Given the description of an element on the screen output the (x, y) to click on. 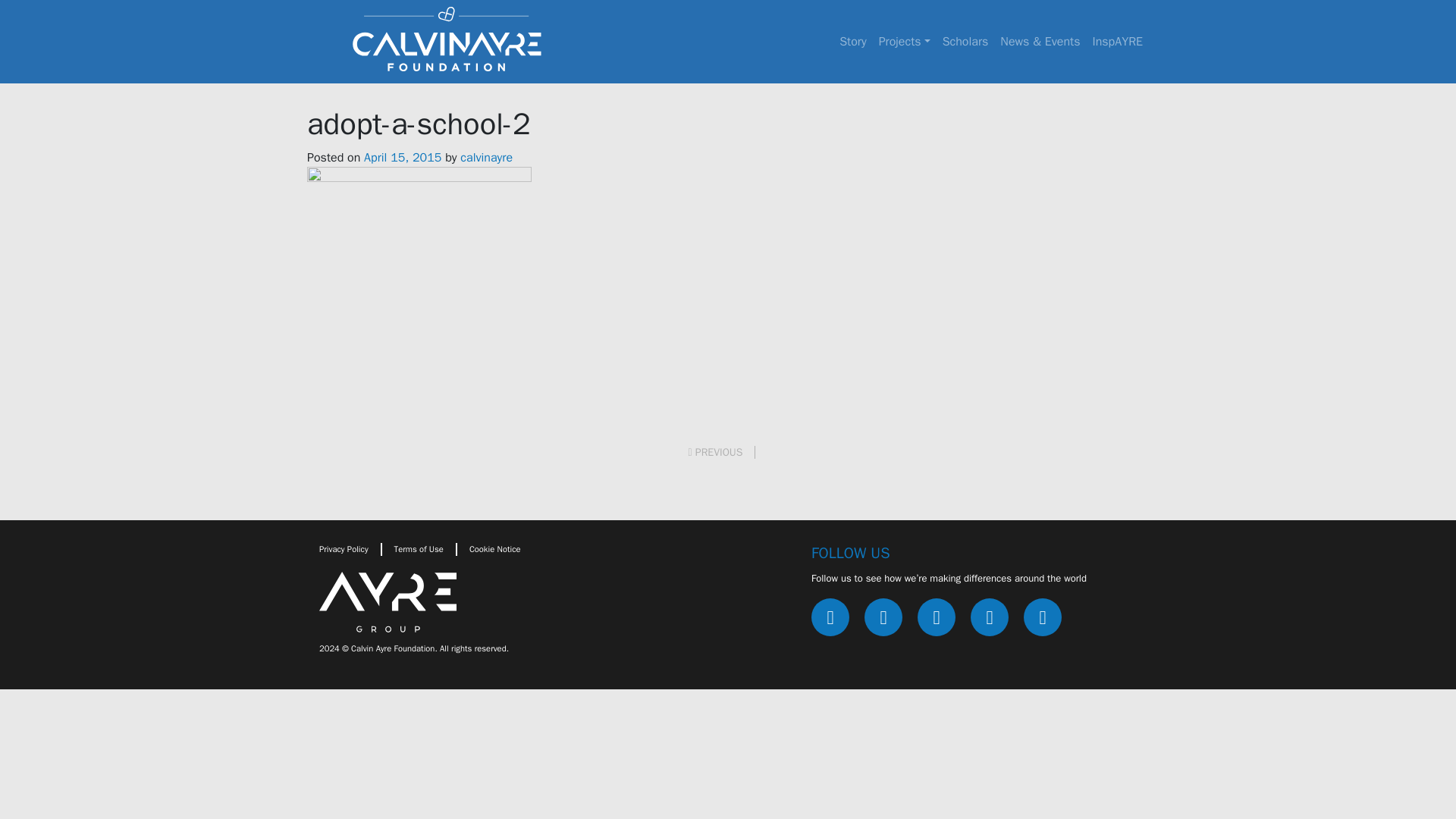
April 15, 2015 (402, 157)
Terms of Use (419, 549)
 PREVIOUS (721, 451)
calvinayre (486, 157)
Scholars (965, 41)
Scholars (965, 41)
Projects (904, 41)
Projects (904, 41)
Cookie Notice (494, 549)
Story (852, 41)
our-story (852, 41)
InspAYRE (1117, 41)
Privacy Policy (343, 549)
InspAYRE (1117, 41)
